Given the description of an element on the screen output the (x, y) to click on. 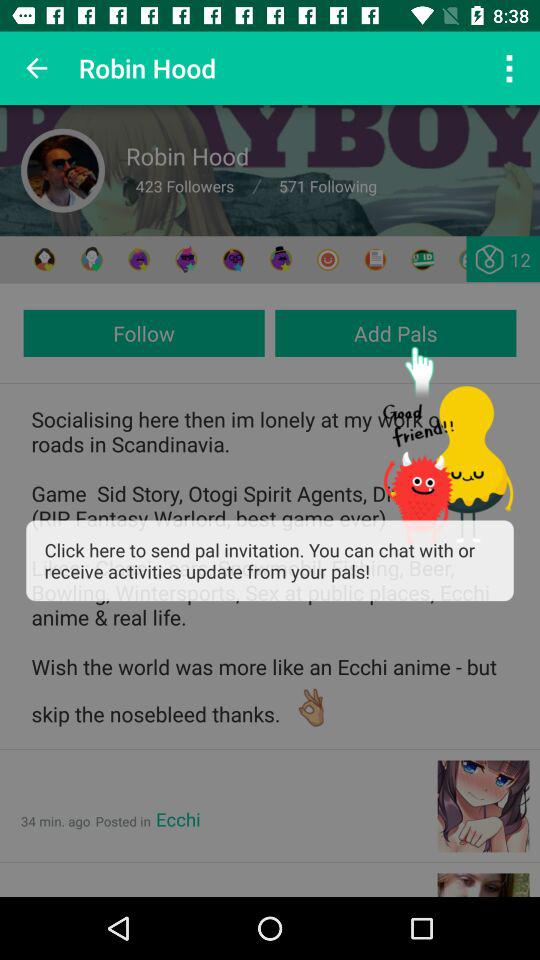
change a setting (469, 259)
